Given the description of an element on the screen output the (x, y) to click on. 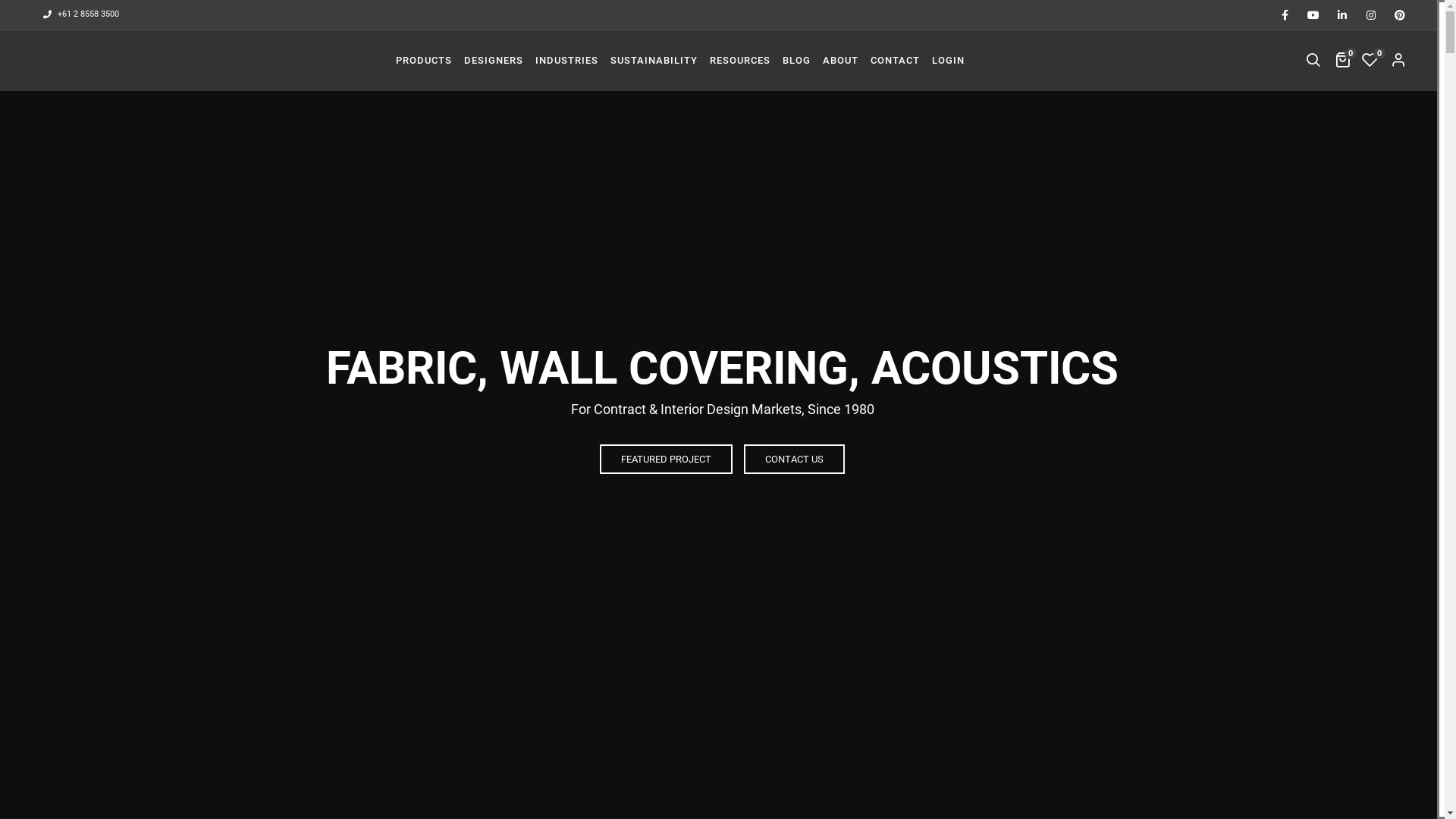
CONTACT US Element type: text (793, 458)
ABOUT Element type: text (839, 60)
INDUSTRIES Element type: text (566, 60)
SUSTAINABILITY Element type: text (652, 60)
DESIGNERS Element type: text (493, 60)
Materialised Element type: hover (40, 59)
BLOG Element type: text (796, 60)
Follow on LinkedIn Element type: hover (1341, 15)
Log in Element type: text (766, 277)
PRODUCTS Element type: text (423, 60)
LOGIN Element type: text (947, 60)
Follow on YouTube Element type: hover (1313, 15)
Follow on Pinterest Element type: hover (1399, 15)
CONTACT Element type: text (894, 60)
RESOURCES Element type: text (739, 60)
0 Element type: text (1341, 60)
FEATURED PROJECT Element type: text (665, 458)
+61 2 8558 3500 Element type: text (88, 13)
0 Element type: text (1370, 60)
My Account Element type: hover (1399, 60)
Follow on Facebook Element type: hover (1284, 15)
Search Element type: hover (1312, 60)
Follow on Instagram Element type: hover (1370, 15)
